Given the description of an element on the screen output the (x, y) to click on. 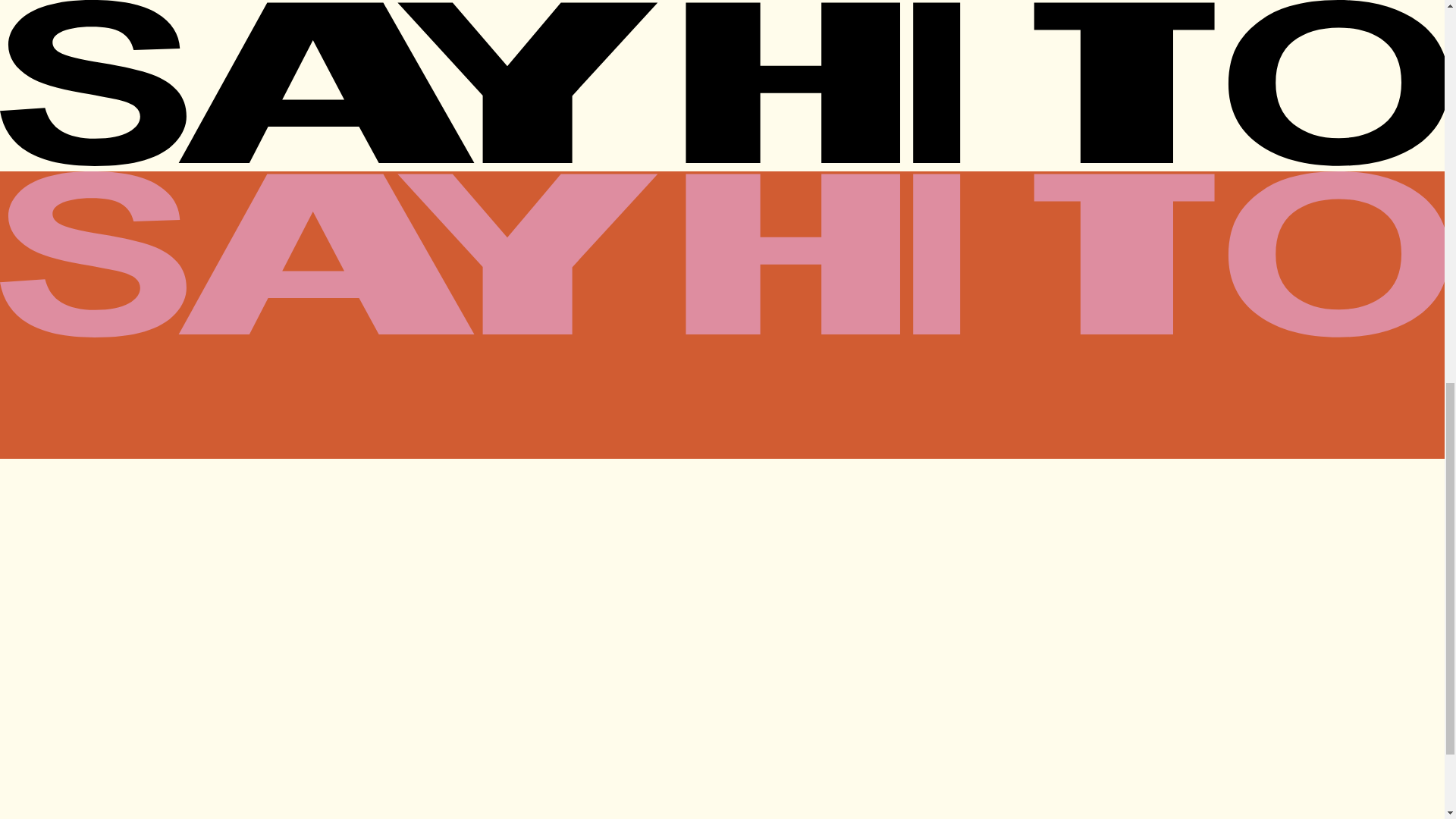
INSTAGRAM (41, 781)
Terms and Conditions (133, 807)
ellenjpong.com (43, 245)
Privacy Policy (41, 807)
